Given the description of an element on the screen output the (x, y) to click on. 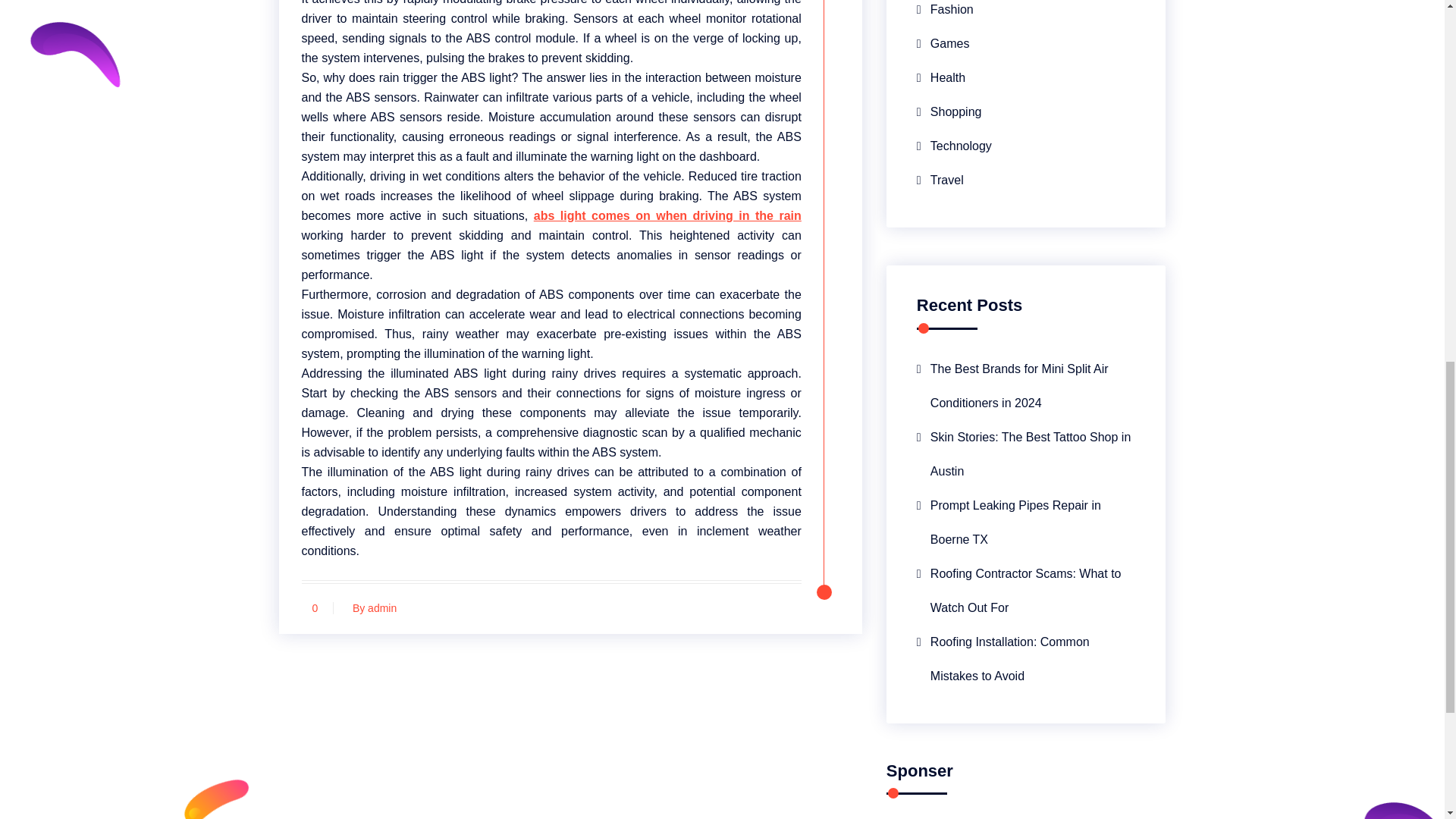
abs light comes on when driving in the rain (668, 215)
Travel (940, 179)
Fashion (945, 13)
Prompt Leaking Pipes Repair in Boerne TX (1026, 522)
Shopping (949, 111)
The Best Brands for Mini Split Air Conditioners in 2024 (1026, 386)
Games (943, 43)
Health (941, 77)
Roofing Contractor Scams: What to Watch Out For (1026, 590)
Roofing Installation: Common Mistakes to Avoid (1026, 658)
Technology (954, 145)
By admin (370, 607)
Skin Stories: The Best Tattoo Shop in Austin (1026, 454)
0 (315, 607)
